Given the description of an element on the screen output the (x, y) to click on. 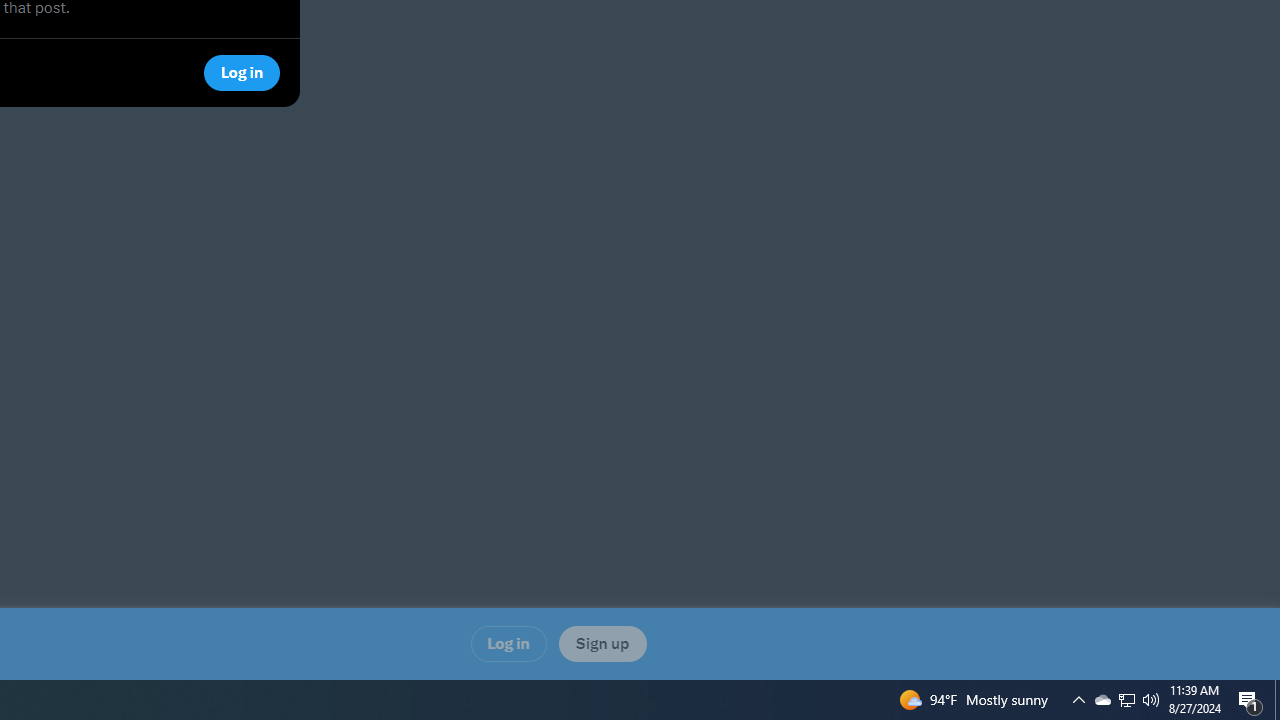
Sign up (602, 643)
Log in (507, 643)
